Given the description of an element on the screen output the (x, y) to click on. 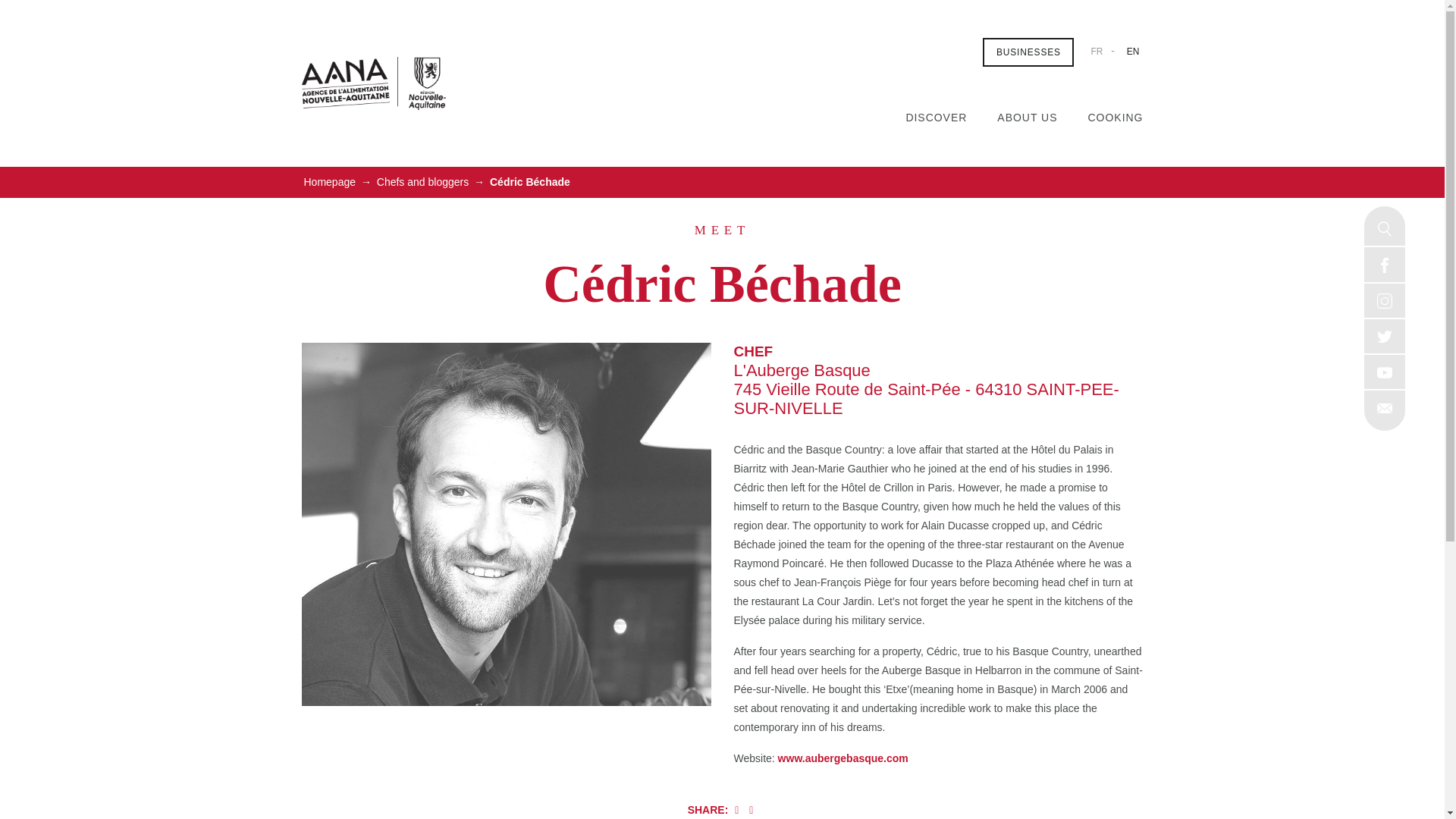
www.aubergebasque.com (842, 758)
FR (1096, 50)
Chefs and bloggers (422, 182)
EN (1133, 50)
Homepage (329, 182)
